Given the description of an element on the screen output the (x, y) to click on. 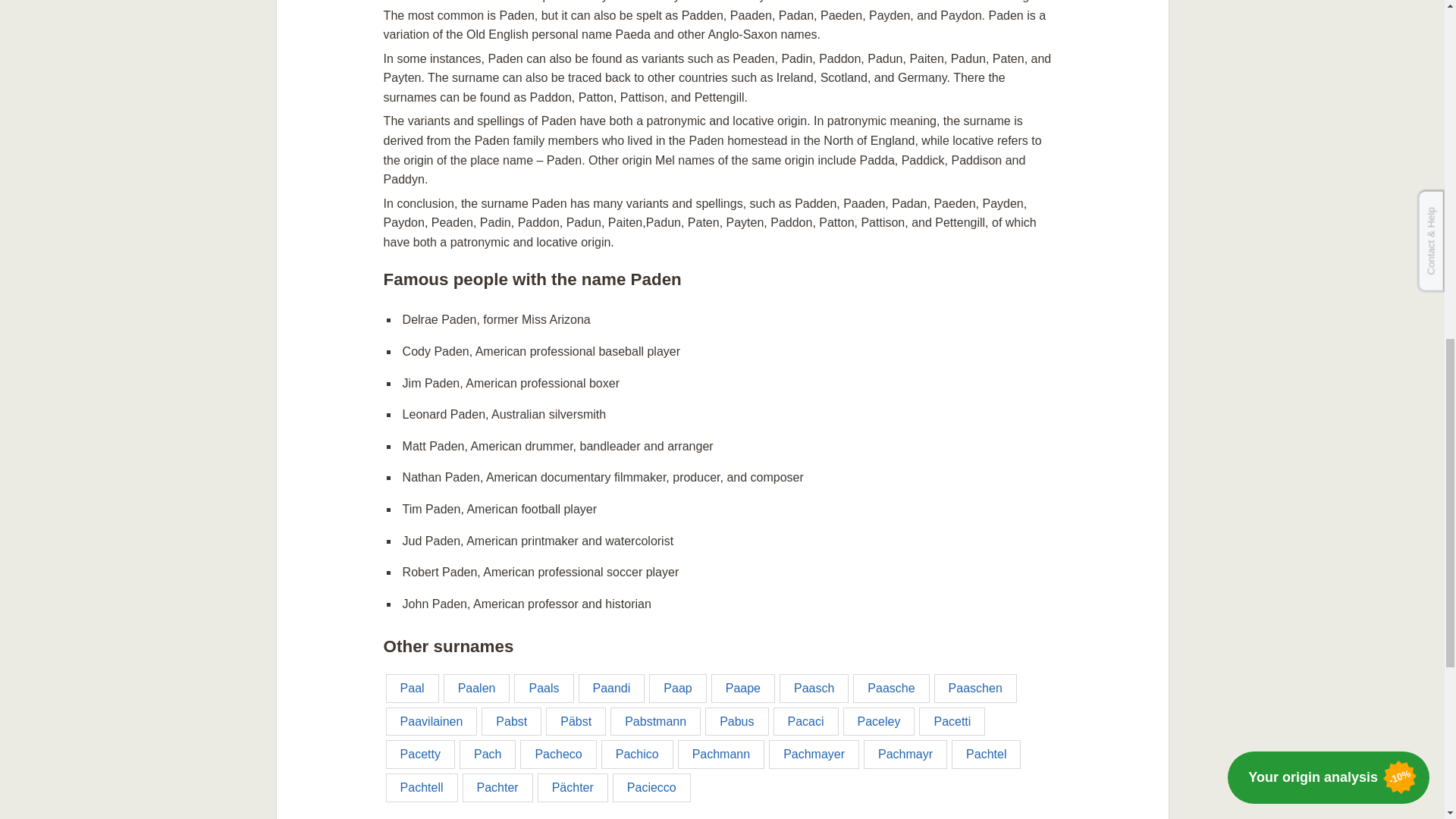
Paals (543, 688)
Origin and meaning surname Paaschen (975, 688)
Origin and meaning surname Pacetti (951, 721)
Paasche (890, 688)
Origin and meaning surname Paavilainen (431, 721)
Pacetty (419, 754)
Paceley (879, 721)
Paandi (611, 688)
Paavilainen (431, 721)
Origin and meaning surname Paasche (890, 688)
Origin and meaning surname Paandi (611, 688)
Pachtell (421, 787)
Pachico (636, 754)
Paap (677, 688)
Origin and meaning surname Paals (543, 688)
